Given the description of an element on the screen output the (x, y) to click on. 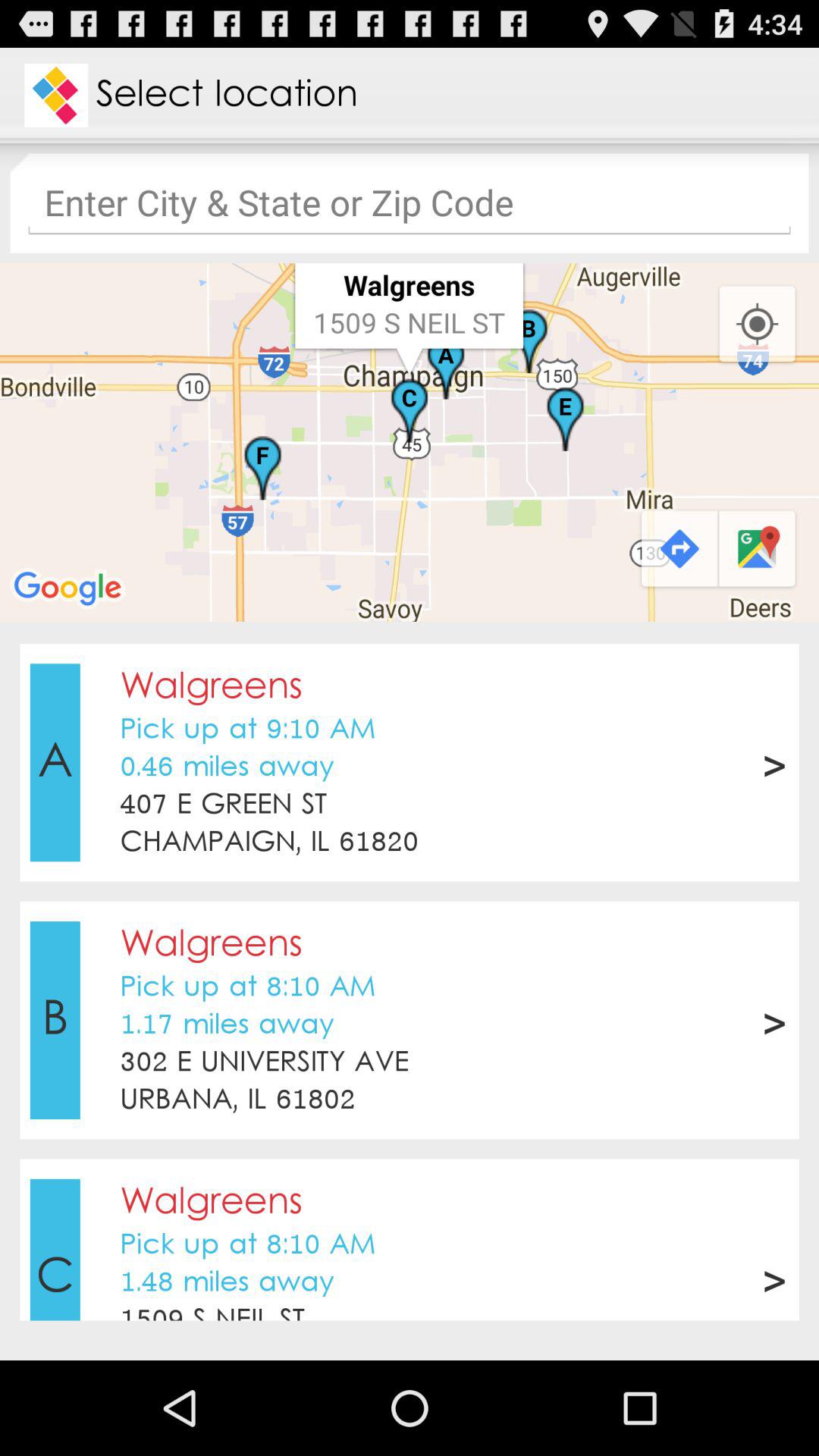
flip until > (773, 1277)
